Given the description of an element on the screen output the (x, y) to click on. 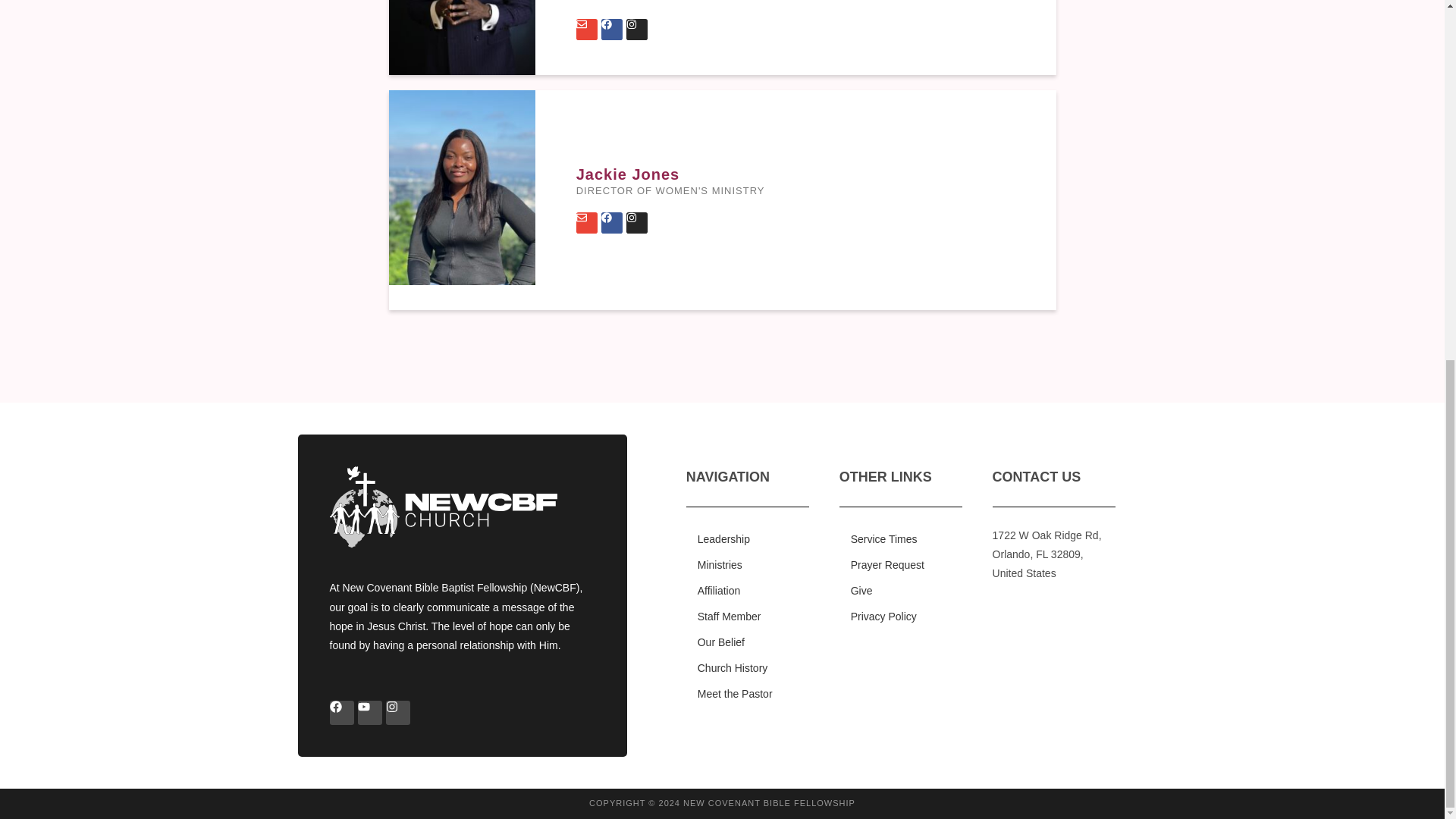
Ministries (747, 565)
Affiliation (747, 590)
Leadership (747, 539)
